Given the description of an element on the screen output the (x, y) to click on. 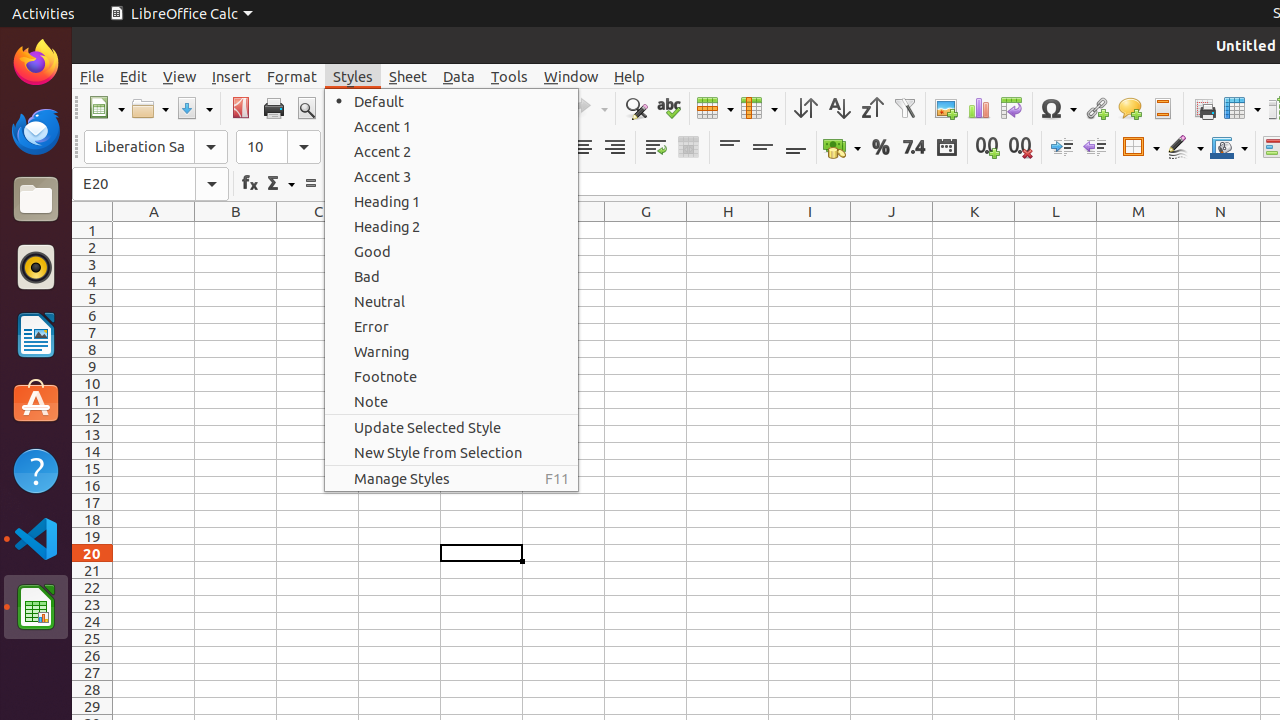
Add Decimal Place Element type: push-button (987, 147)
J1 Element type: table-cell (892, 230)
File Element type: menu (92, 76)
Heading 2 Element type: radio-menu-item (451, 226)
Help Element type: menu (629, 76)
